Given the description of an element on the screen output the (x, y) to click on. 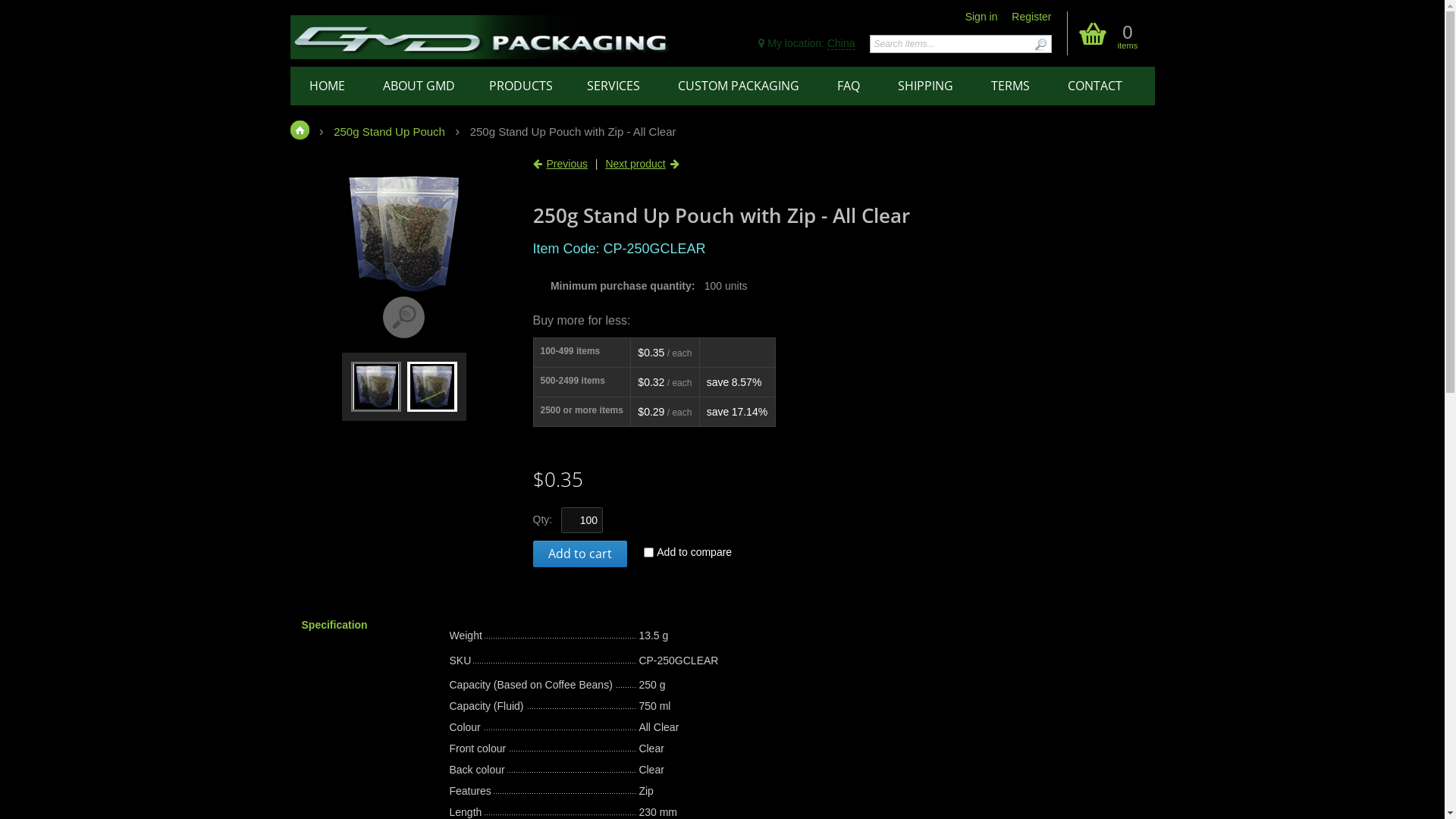
CONTACT Element type: text (1094, 85)
CUSTOM PACKAGING Element type: text (737, 85)
Register Element type: text (1031, 16)
SHIPPING Element type: text (924, 85)
HOME Element type: text (326, 85)
Add to cart Element type: text (579, 553)
Next product Element type: text (634, 163)
ABOUT GMD Element type: text (418, 85)
Sign in Element type: text (981, 16)
My location: China Element type: text (806, 42)
FAQ Element type: text (847, 85)
250g Stand Up Pouch Element type: text (389, 131)
100 Element type: text (581, 520)
TERMS Element type: text (1010, 85)
Previous Element type: text (566, 163)
GMD Desk Logo Element type: hover (479, 37)
Specification Element type: text (361, 624)
Quantity Element type: hover (581, 520)
SERVICES Element type: text (612, 85)
Search Element type: hover (1039, 43)
